Given the description of an element on the screen output the (x, y) to click on. 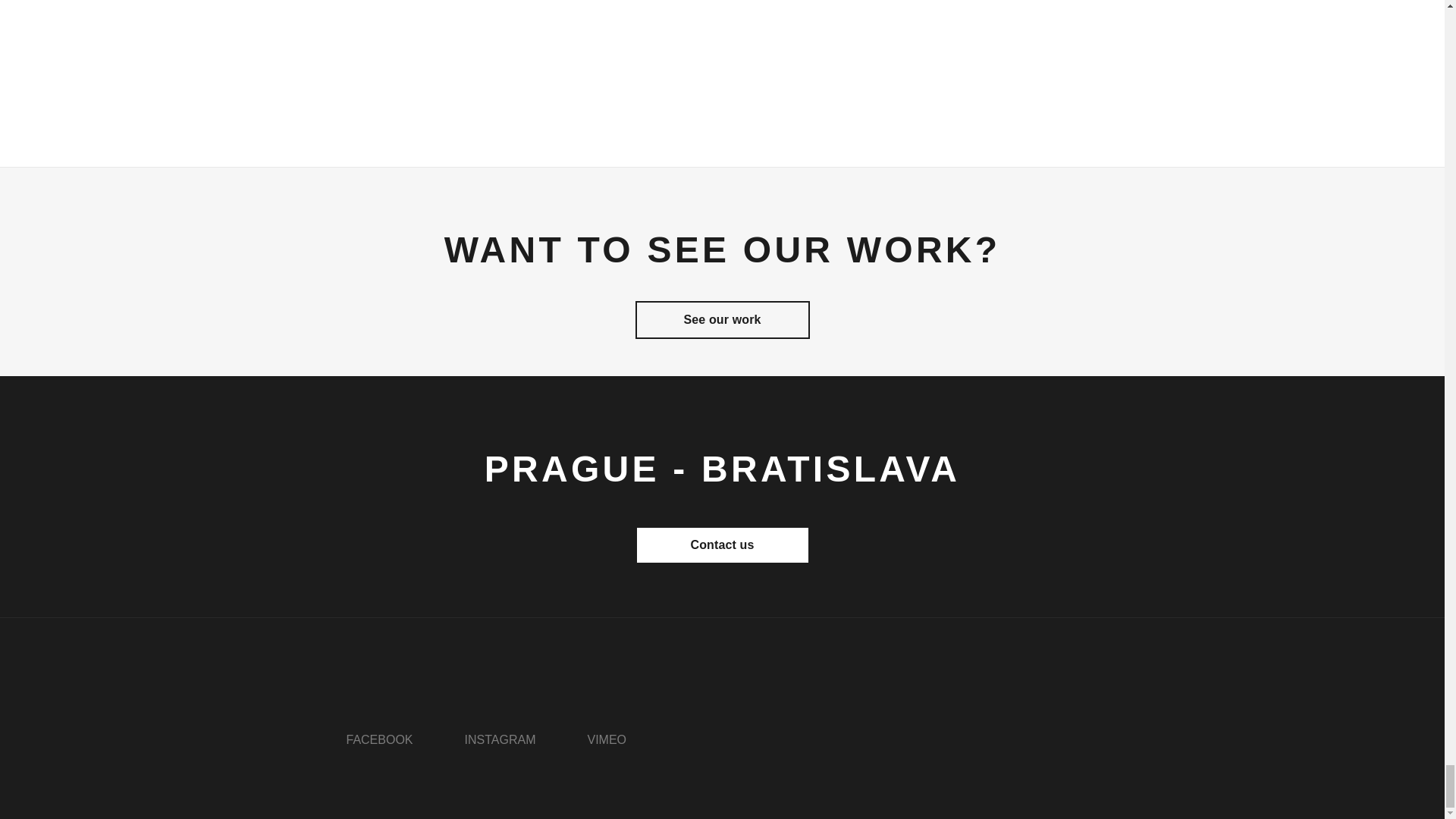
Contact us (721, 545)
INSTAGRAM (499, 739)
See our work (721, 320)
FACEBOOK (379, 739)
VIMEO (606, 739)
